Given the description of an element on the screen output the (x, y) to click on. 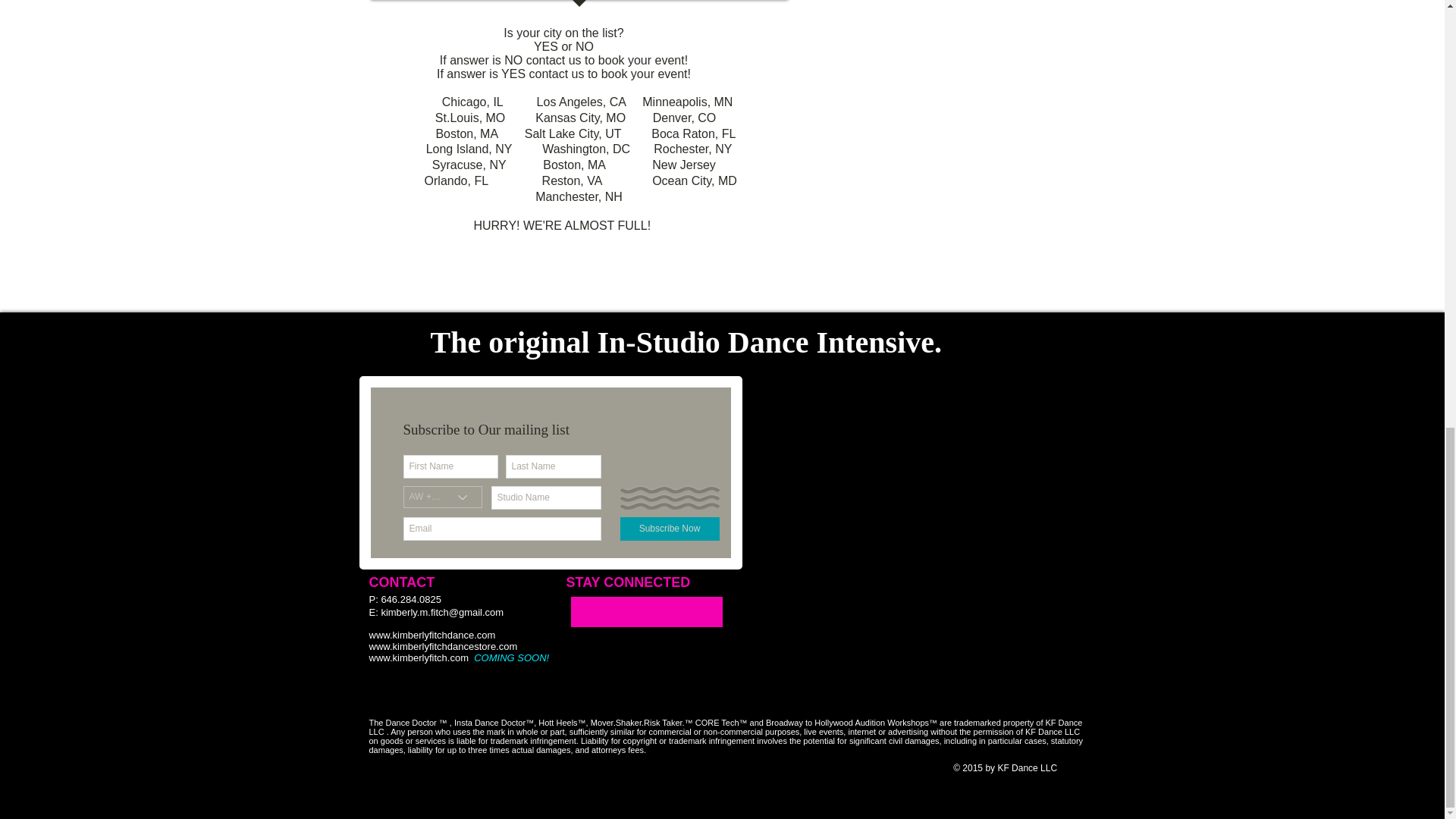
www.kimberlyfitchdancestore.com (442, 645)
www.kimberlyfitch.com (417, 657)
Subscribe Now (669, 528)
www.kimberlyfitchdance.com (431, 634)
